Given the description of an element on the screen output the (x, y) to click on. 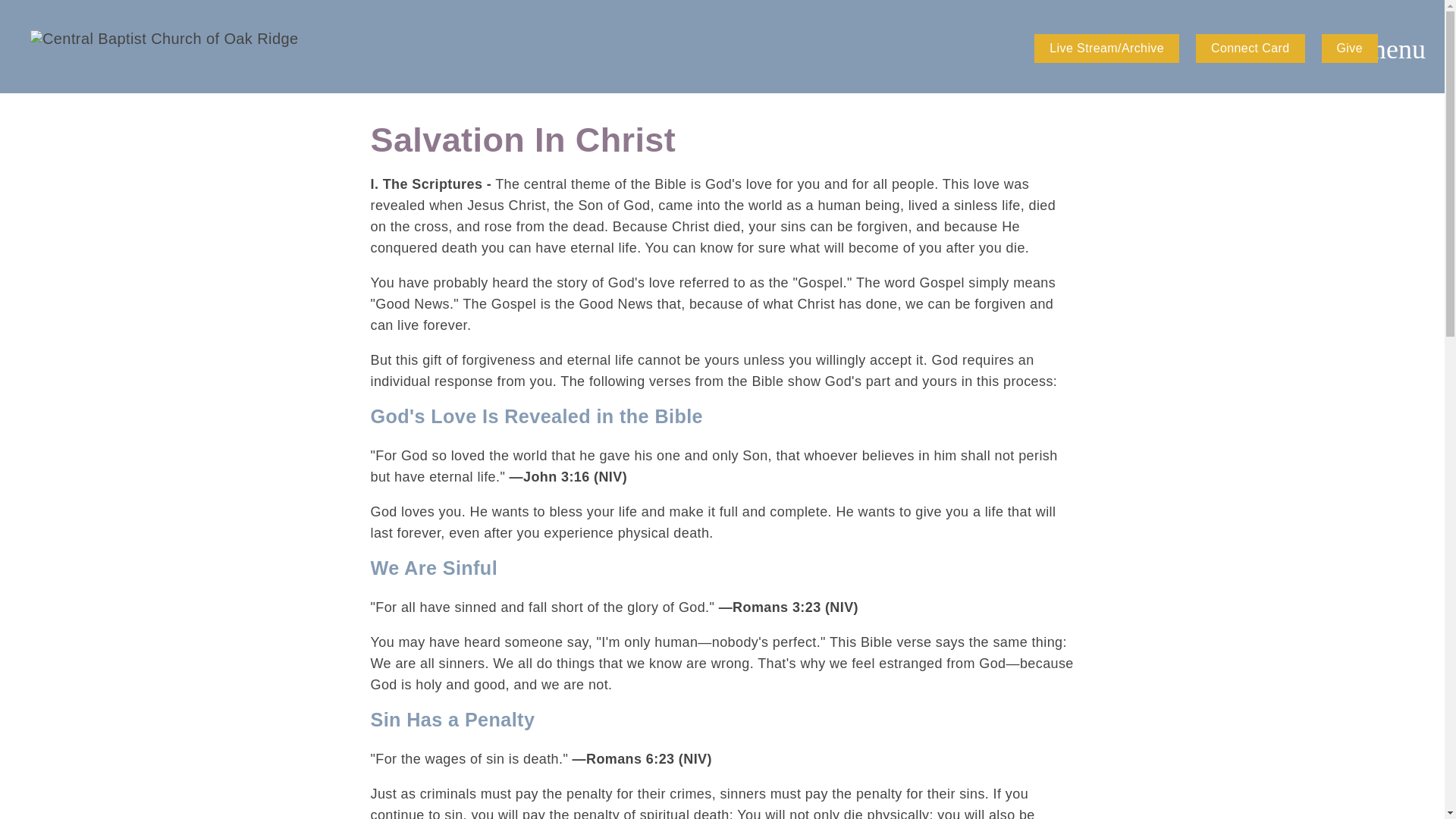
menu (1395, 49)
Connect Card (1249, 48)
Give (1348, 48)
